Given the description of an element on the screen output the (x, y) to click on. 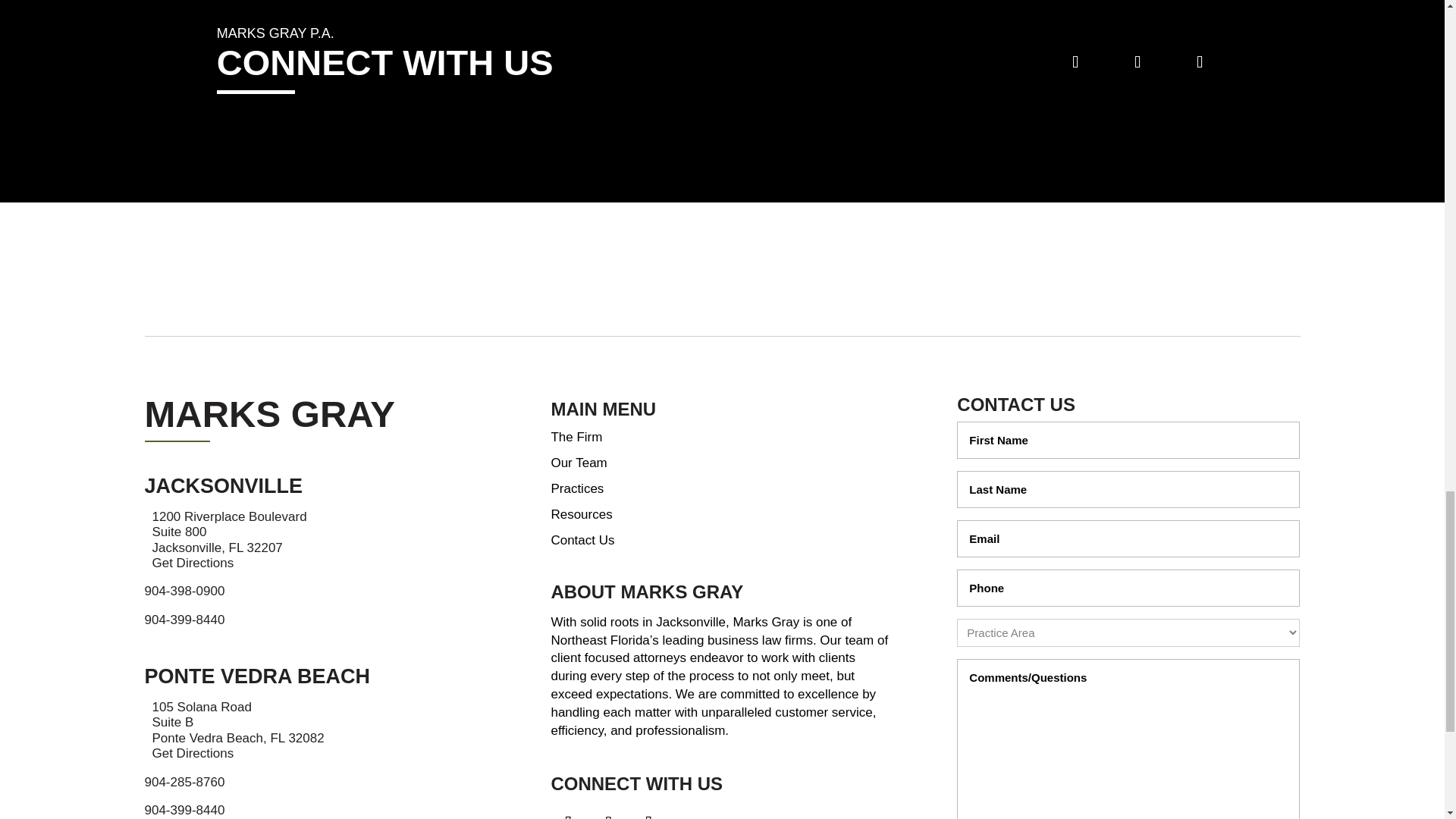
Follow on X (647, 812)
Follow on LinkedIn (567, 812)
Follow on Facebook (607, 812)
